Given the description of an element on the screen output the (x, y) to click on. 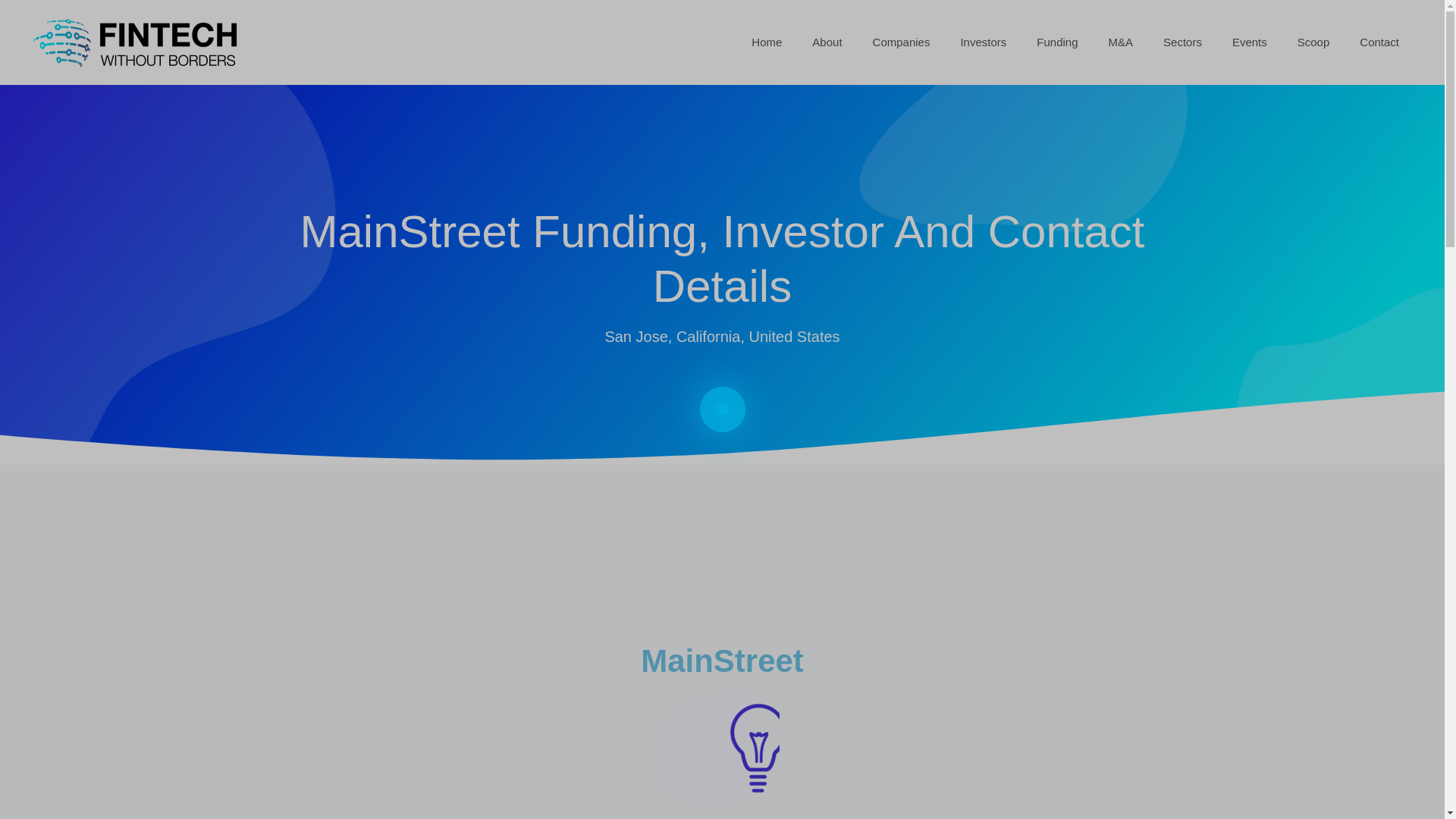
MainStreet (721, 660)
Sectors (1182, 42)
Investors (983, 42)
Events (1249, 42)
Scoop (1313, 42)
Home (766, 42)
Funding (1057, 42)
Companies (900, 42)
Fintech Without Borders (143, 42)
Fintech Without Borders (143, 41)
